Given the description of an element on the screen output the (x, y) to click on. 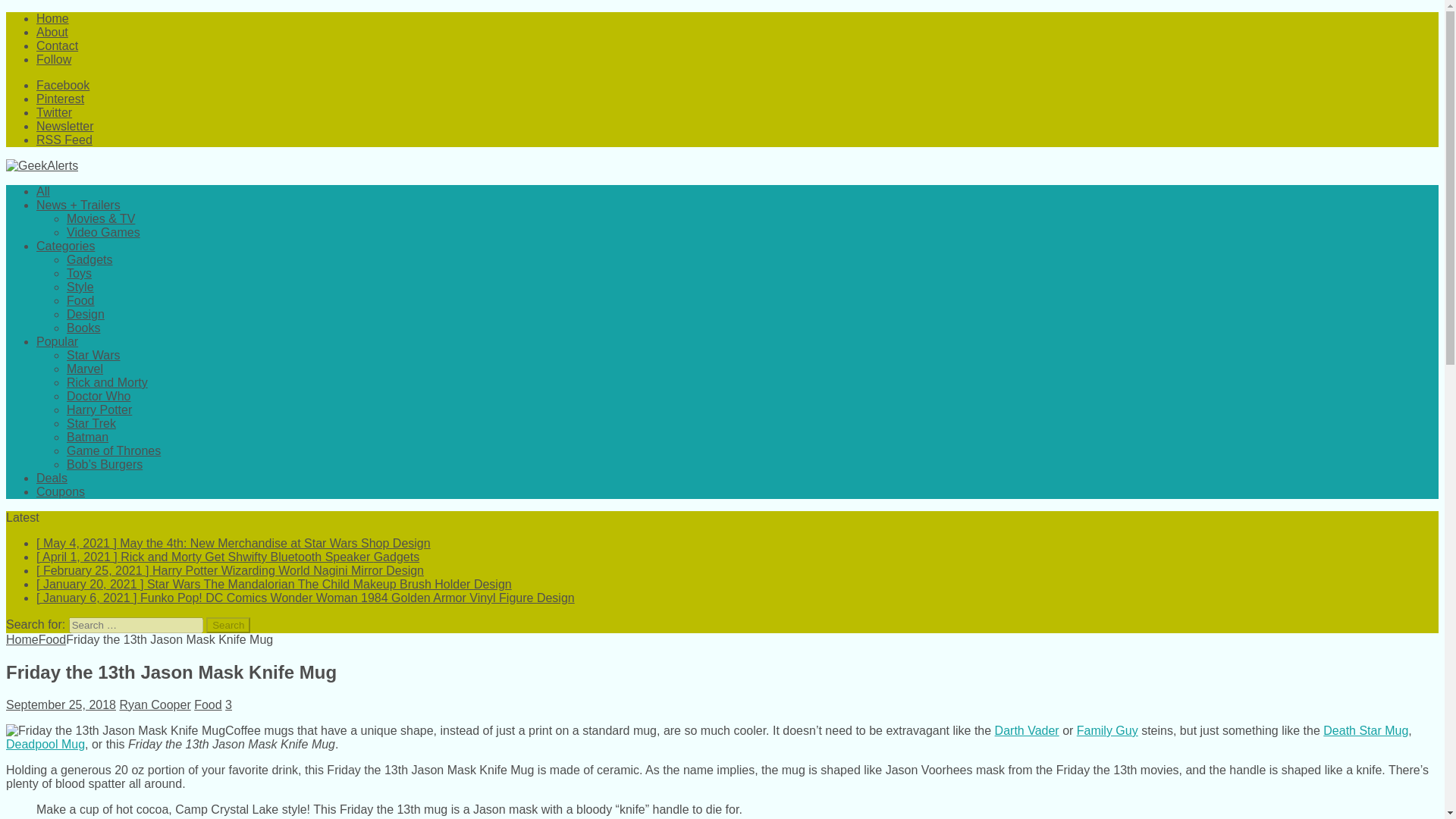
Toys (78, 273)
Pinterest (60, 98)
Style (80, 286)
Books (83, 327)
About (52, 31)
Contact (57, 45)
Game of Thrones (113, 450)
Follow (53, 59)
Home (52, 18)
Deals (51, 477)
Star Wars The Mandalorian The Child Makeup Brush Holder (274, 584)
Harry Potter Wizarding World Nagini Mirror (229, 570)
Video Games (102, 232)
Marvel (84, 368)
Batman (86, 436)
